Given the description of an element on the screen output the (x, y) to click on. 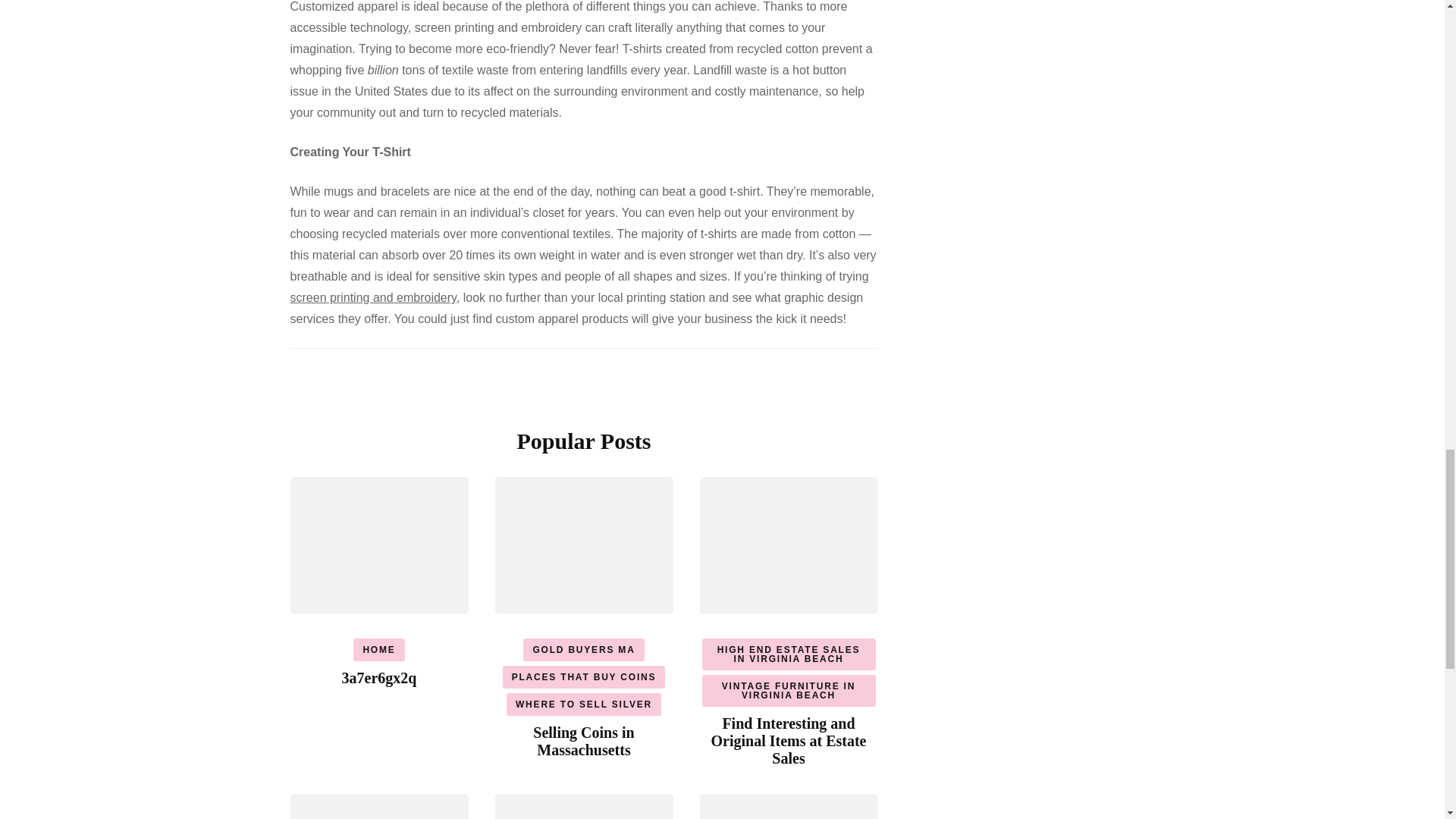
VINTAGE FURNITURE IN VIRGINIA BEACH (788, 690)
3a7er6gx2q (379, 677)
PLACES THAT BUY COINS (583, 676)
Screen printed t-shirts (372, 297)
Find Interesting and Original Items at Estate Sales (788, 740)
HOME (378, 649)
WHERE TO SELL SILVER (583, 703)
Selling Coins in Massachusetts (582, 740)
HIGH END ESTATE SALES IN VIRGINIA BEACH (788, 654)
screen printing and embroidery (372, 297)
